Given the description of an element on the screen output the (x, y) to click on. 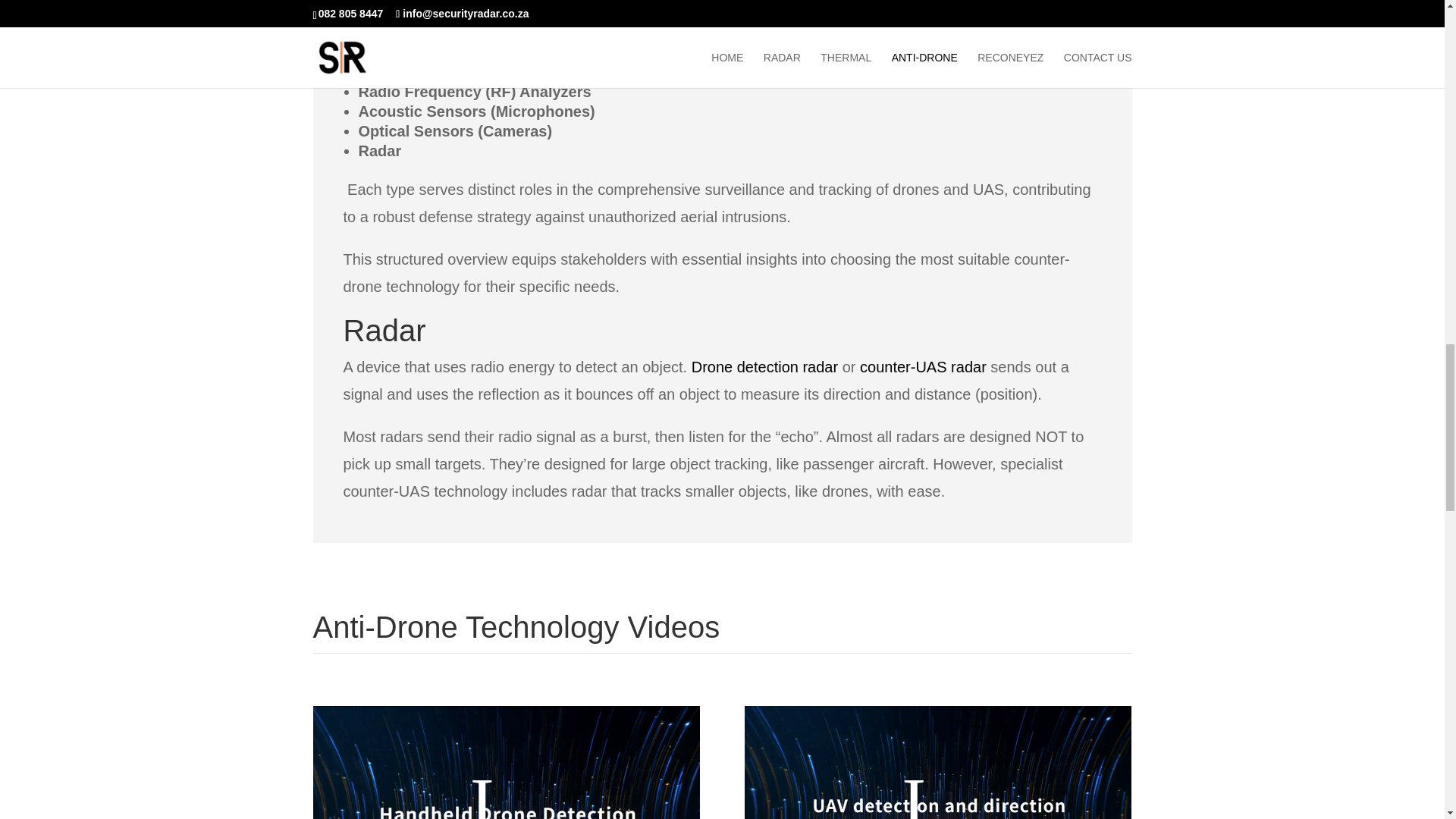
Drone detection radar (764, 366)
counter-UAS radar (923, 366)
